Given the description of an element on the screen output the (x, y) to click on. 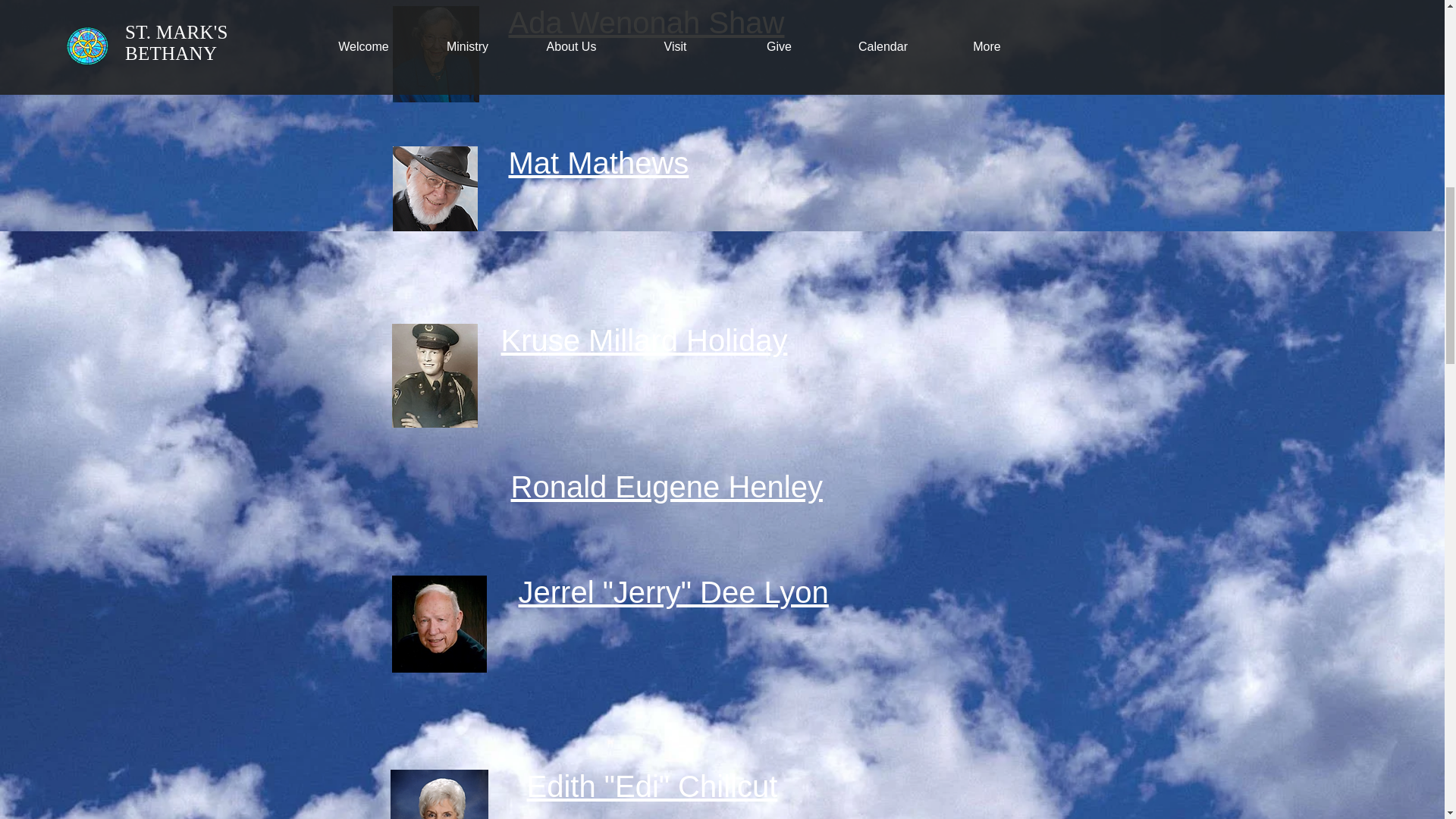
Ada Wenonah Shaw (646, 22)
Ronald Eugene Henley (666, 486)
Mat Mathews (598, 162)
Kruse Millard Holiday (643, 340)
Jerrel "Jerry" Dee Lyon (673, 592)
Edith "Edi" Chillcut (651, 786)
